Given the description of an element on the screen output the (x, y) to click on. 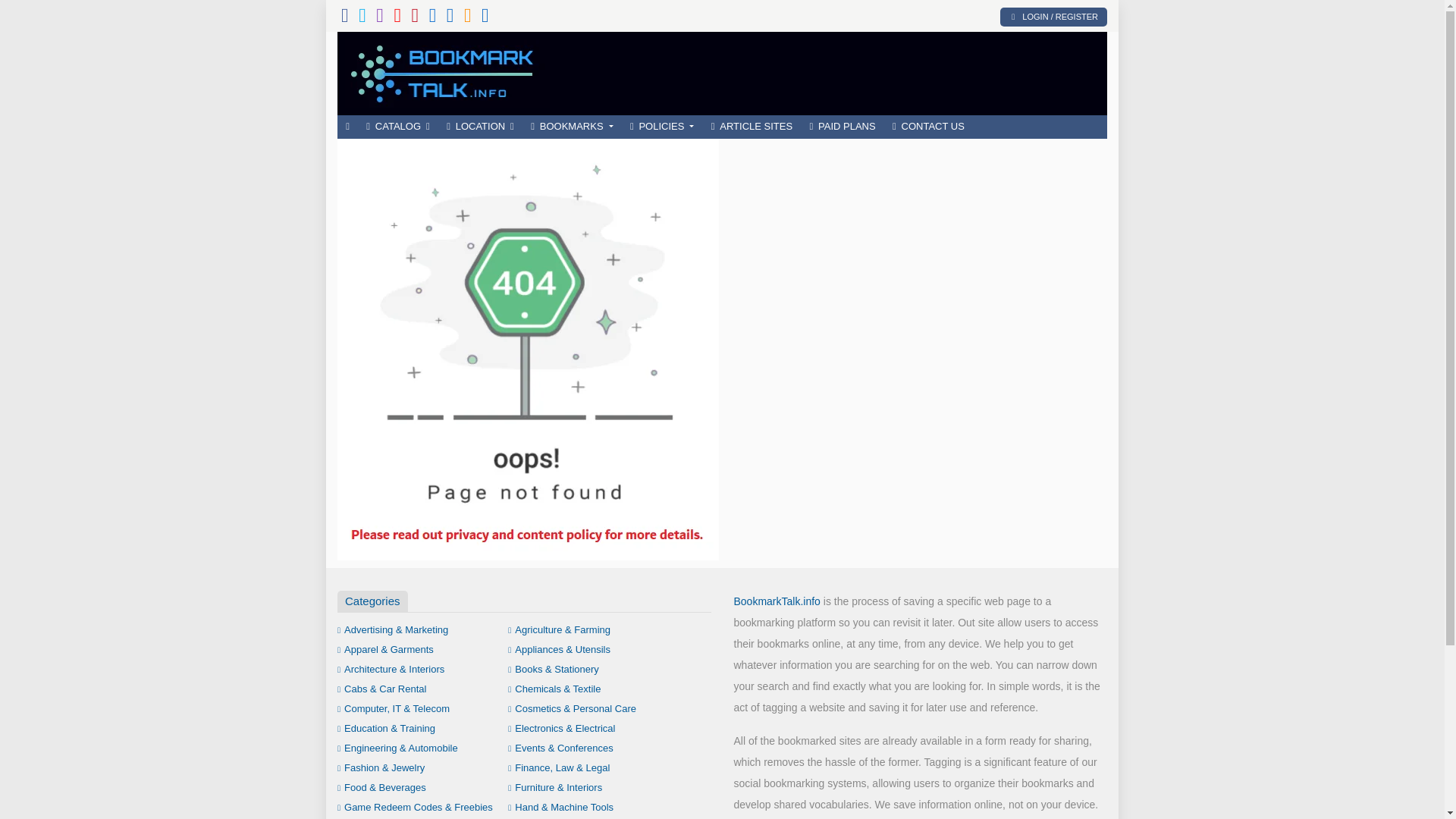
Medium (450, 18)
RSS Feed (467, 18)
Pinterest (414, 18)
Tumblr (432, 18)
Advanced Social Media Marketing Service to Increase Traffic (447, 71)
Twitter (362, 18)
CATALOG (398, 126)
Instagram (379, 18)
HOME (347, 126)
YouTube (397, 18)
Facebook (344, 18)
Linked In (485, 18)
